Given the description of an element on the screen output the (x, y) to click on. 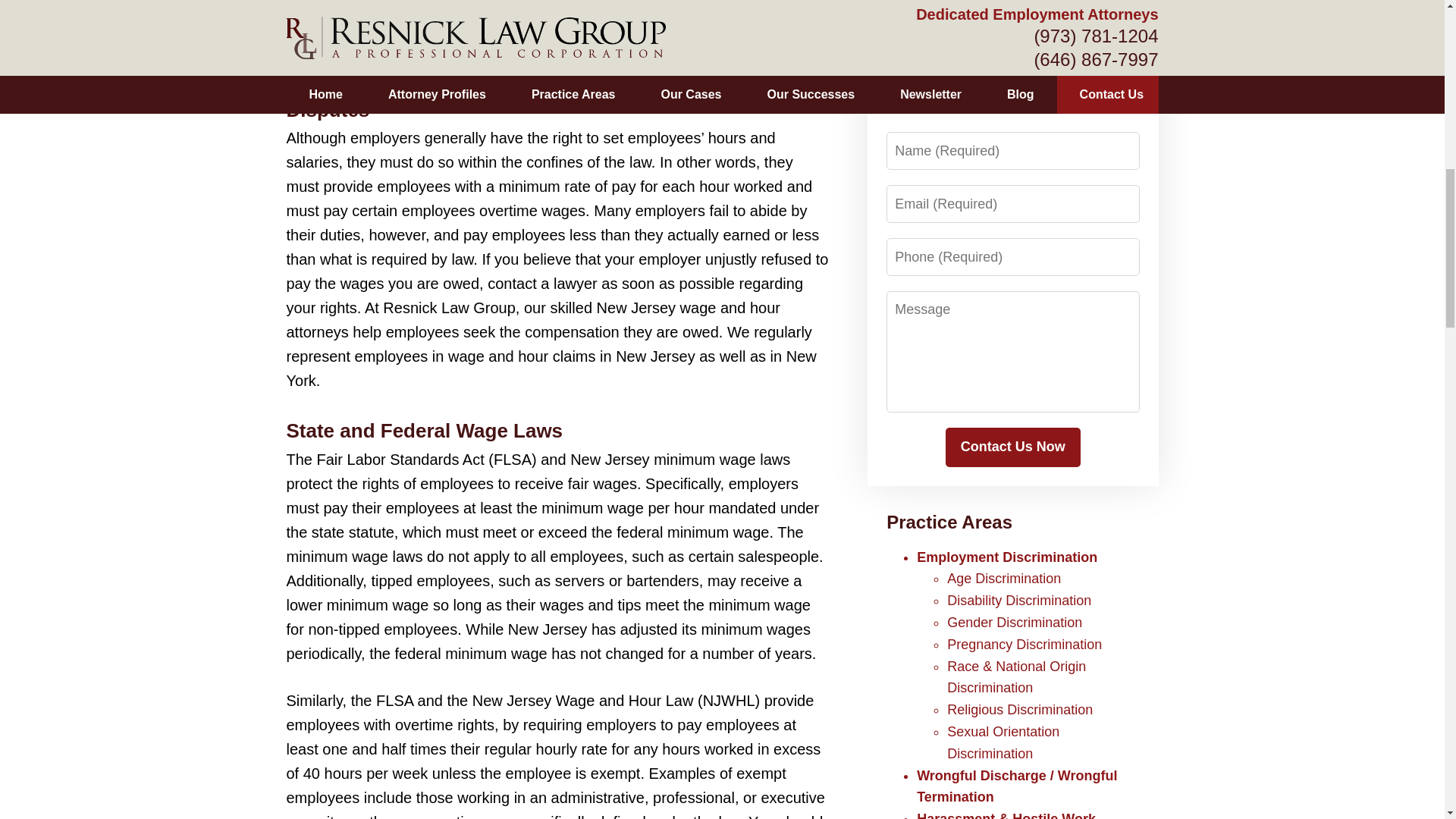
Contact Us Now (1012, 446)
Religious Discrimination (1020, 709)
Sexual Orientation Discrimination (1003, 742)
Gender Discrimination (1014, 622)
Pregnancy Discrimination (1024, 644)
Employment Discrimination (1007, 557)
Age Discrimination (1004, 578)
Disability Discrimination (1018, 600)
